Given the description of an element on the screen output the (x, y) to click on. 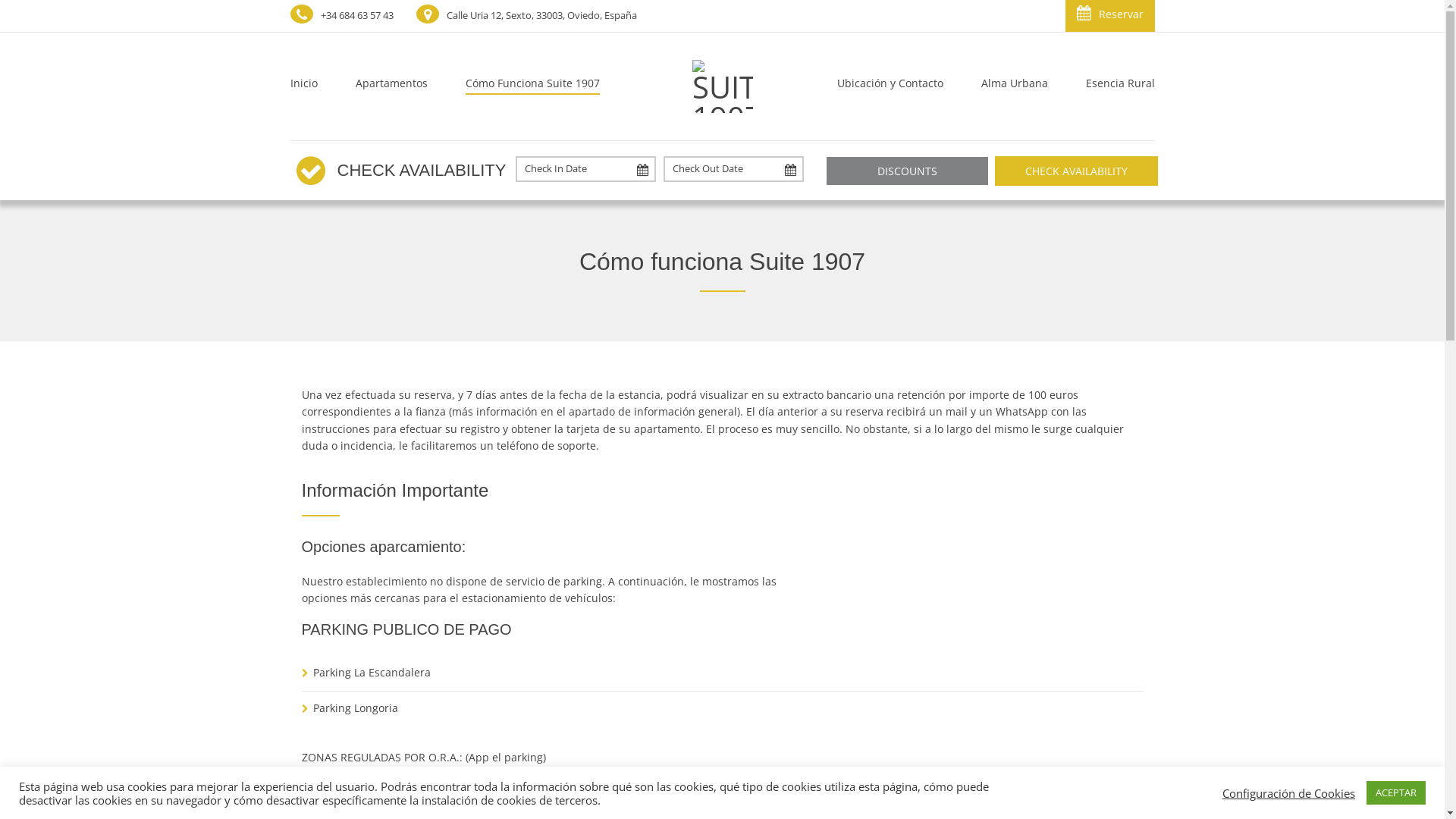
DISCOUNTS Element type: text (907, 170)
Alma Urbana Element type: text (1013, 86)
Inicio Element type: text (312, 86)
Esencia Rural Element type: text (1110, 86)
ACEPTAR Element type: text (1395, 792)
Apartamentos Element type: text (391, 86)
CHECK AVAILABILITY Element type: text (1075, 170)
Reservar Element type: text (1109, 15)
